Given the description of an element on the screen output the (x, y) to click on. 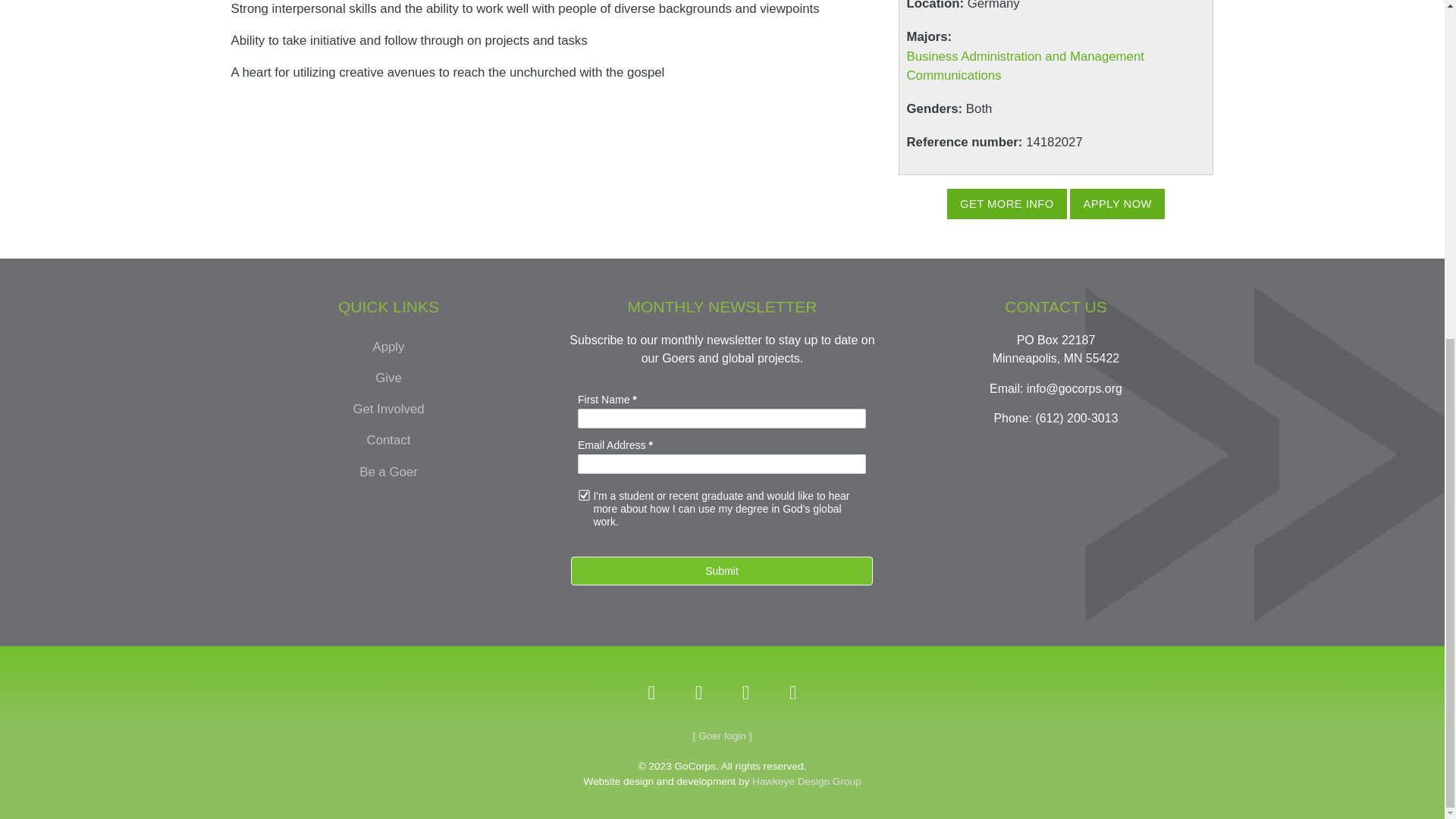
Apply (388, 346)
Business Administration and Management (1025, 56)
APPLY NOW (1116, 204)
Give (388, 377)
Contact (388, 440)
Communications (954, 74)
Get Involved (388, 409)
Be a Goer (388, 471)
GET MORE INFO (1007, 204)
